Given the description of an element on the screen output the (x, y) to click on. 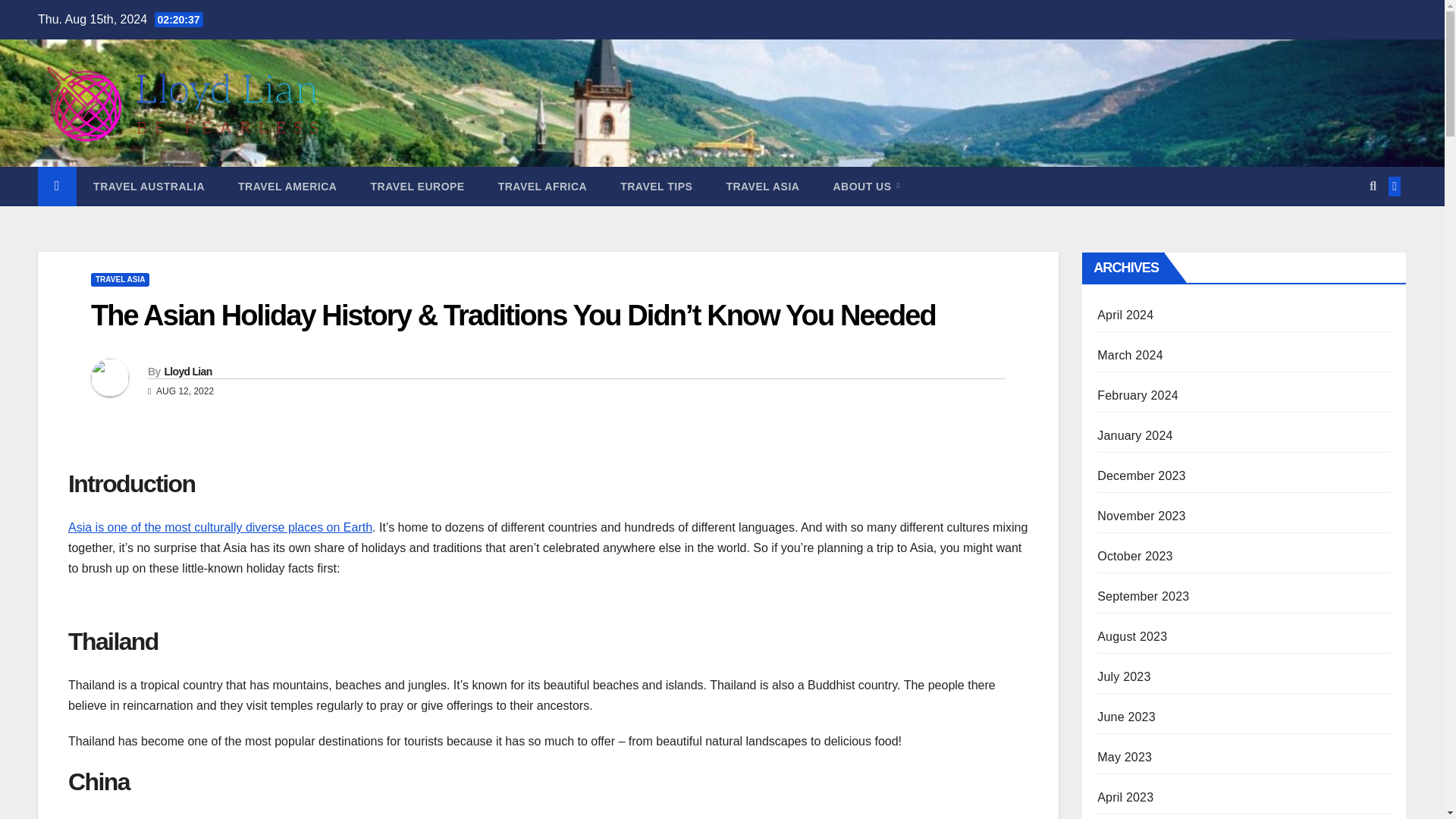
Travel Africa (542, 186)
Travel America (287, 186)
TRAVEL AUSTRALIA (149, 186)
TRAVEL ASIA (762, 186)
Lloyd Lian (187, 371)
Travel Australia (149, 186)
TRAVEL EUROPE (416, 186)
ABOUT US (865, 186)
TRAVEL TIPS (656, 186)
